Given the description of an element on the screen output the (x, y) to click on. 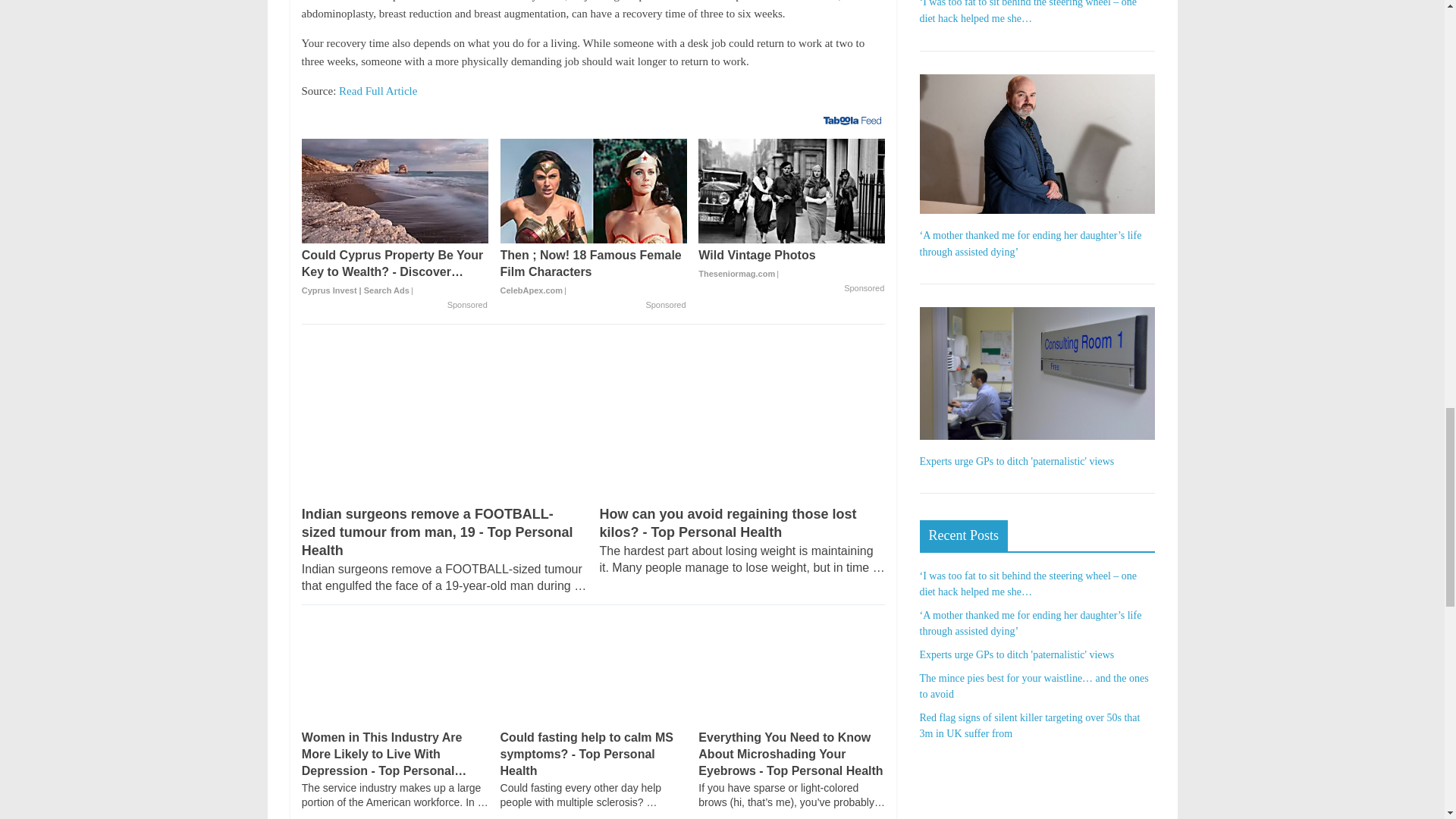
Sponsored (466, 305)
Read Full Article (377, 91)
Wild Vintage Photos (791, 264)
Then ; Now! 18 Famous Female Film Characters (593, 190)
Sponsored (665, 305)
Wild Vintage Photos (791, 190)
Then ; Now! 18 Famous Female Film Characters (593, 272)
Sponsored (863, 288)
